Given the description of an element on the screen output the (x, y) to click on. 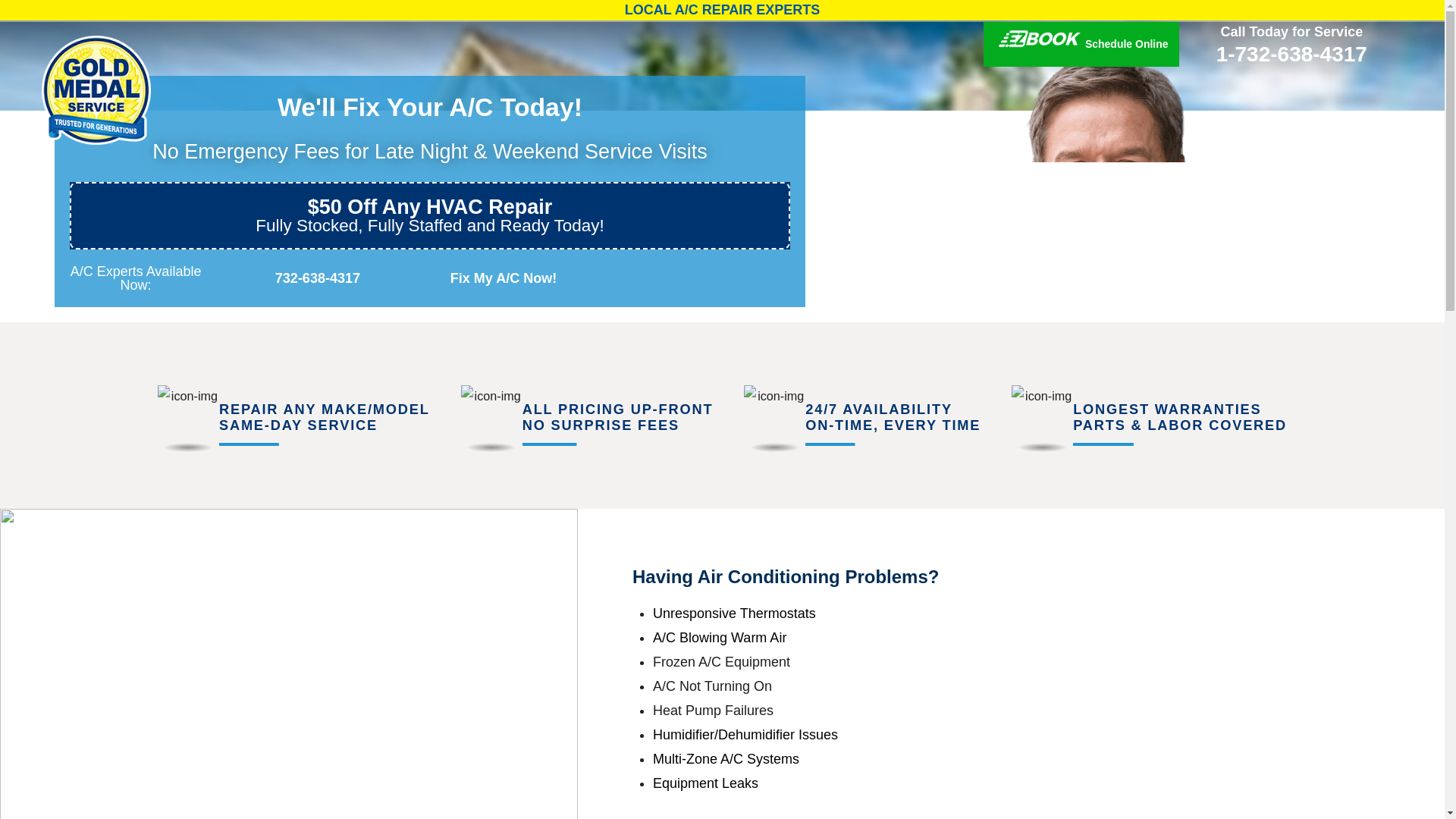
Schedule Online (1081, 44)
732-638-4317 (306, 278)
1-732-638-4317 (1291, 54)
